Given the description of an element on the screen output the (x, y) to click on. 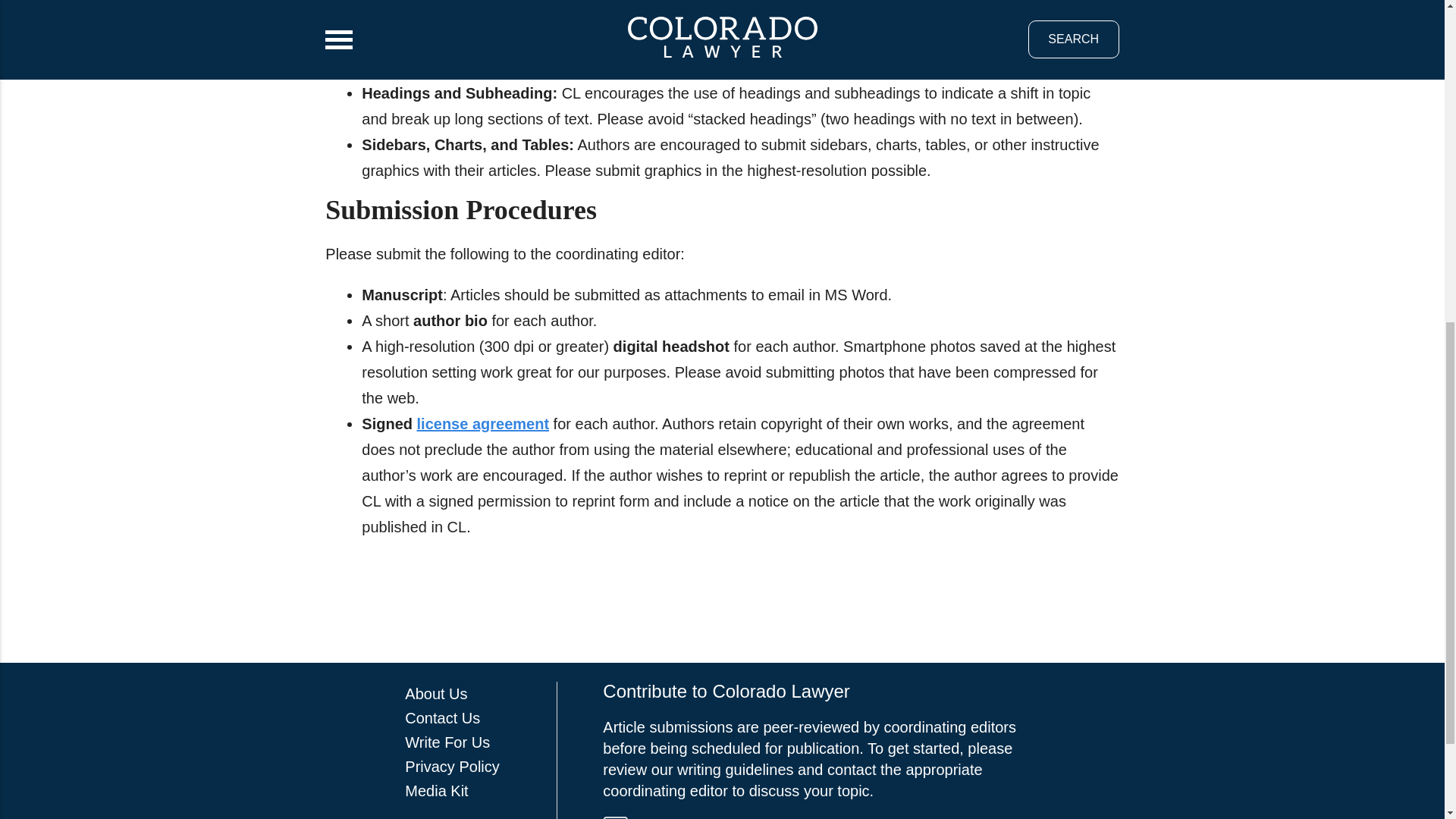
Contact Us (442, 718)
Privacy Policy (451, 766)
Media Kit (435, 790)
About Us (435, 693)
Write For Us (446, 742)
license agreement (483, 423)
